Given the description of an element on the screen output the (x, y) to click on. 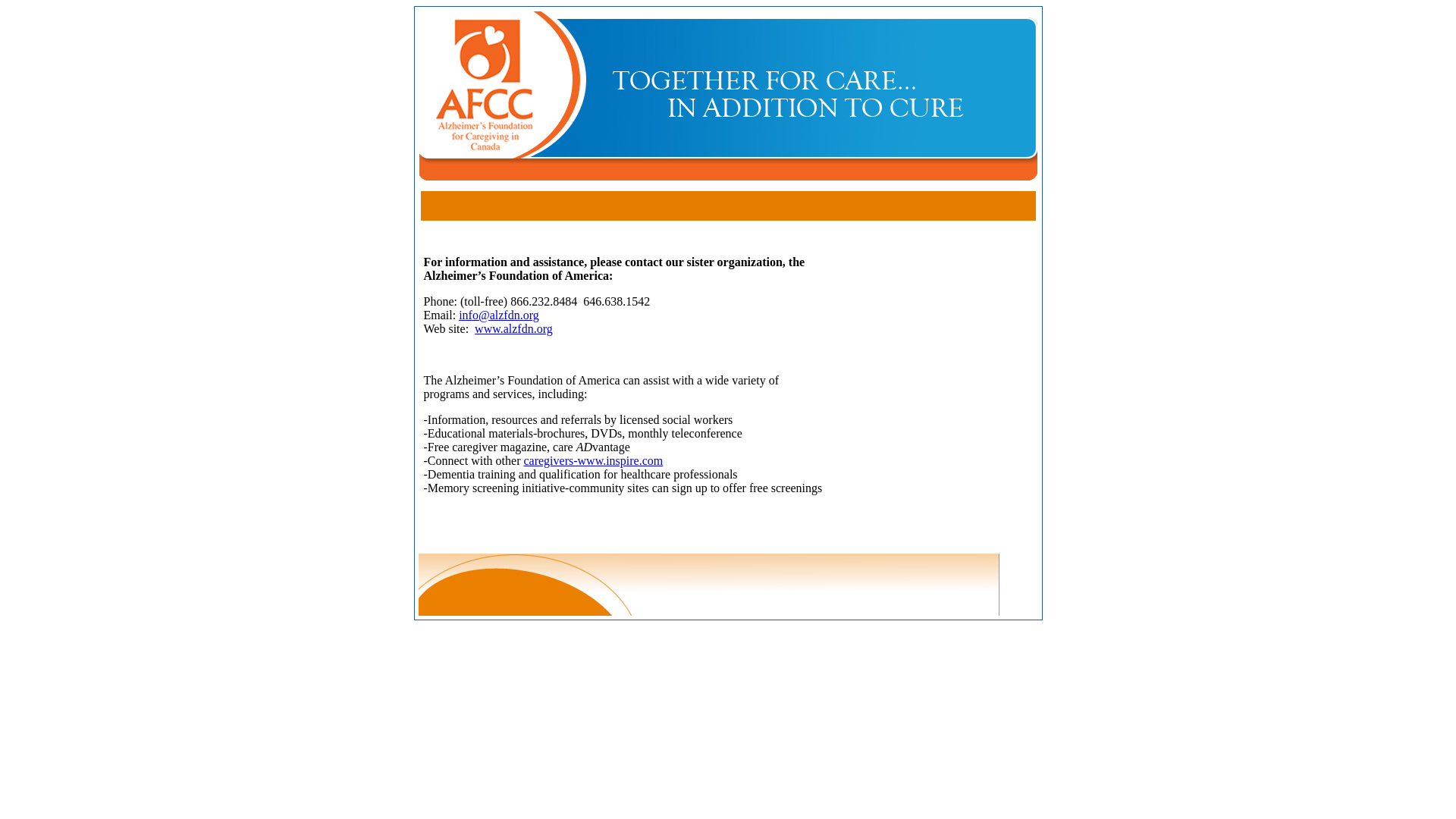
info@alzfdn.org Element type: text (498, 314)
caregivers-www.inspire.com Element type: text (592, 460)
www.alzfdn.org Element type: text (513, 328)
